Given the description of an element on the screen output the (x, y) to click on. 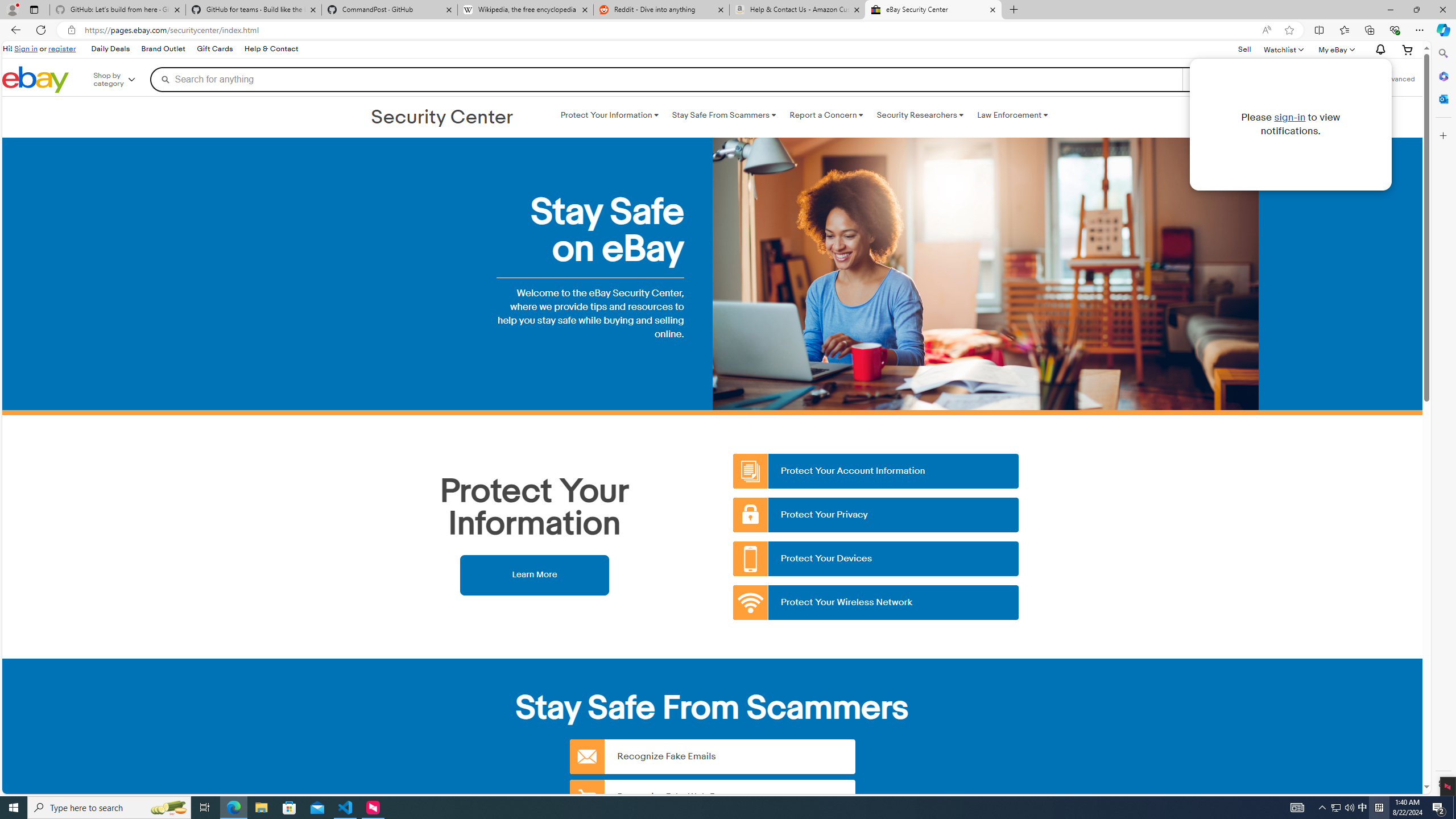
Stay Safe From Scammers  (723, 115)
Protect Your Information  (608, 115)
Security Center (442, 117)
Law Enforcement  (1012, 115)
Recognize Fake Web Pages (712, 796)
Advanced Search (1398, 78)
My eBay (1335, 49)
Help & Contact (271, 49)
Shop by category (122, 79)
